Given the description of an element on the screen output the (x, y) to click on. 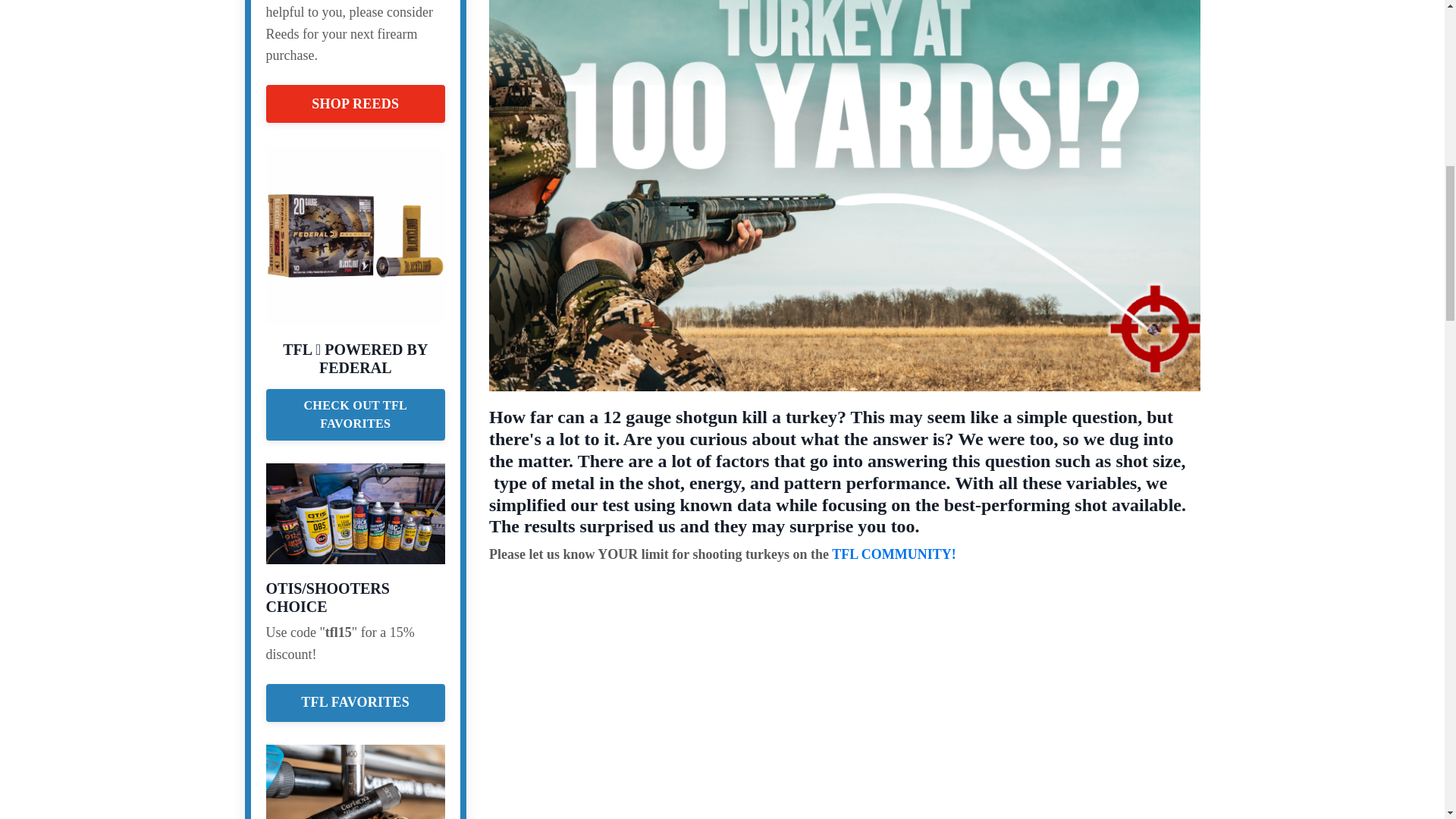
TFL COMMUNITY! (893, 554)
TFL FAVORITES (354, 702)
YouTube video player (832, 697)
SHOP REEDS (354, 103)
CHECK OUT TFL FAVORITES (354, 415)
